Given the description of an element on the screen output the (x, y) to click on. 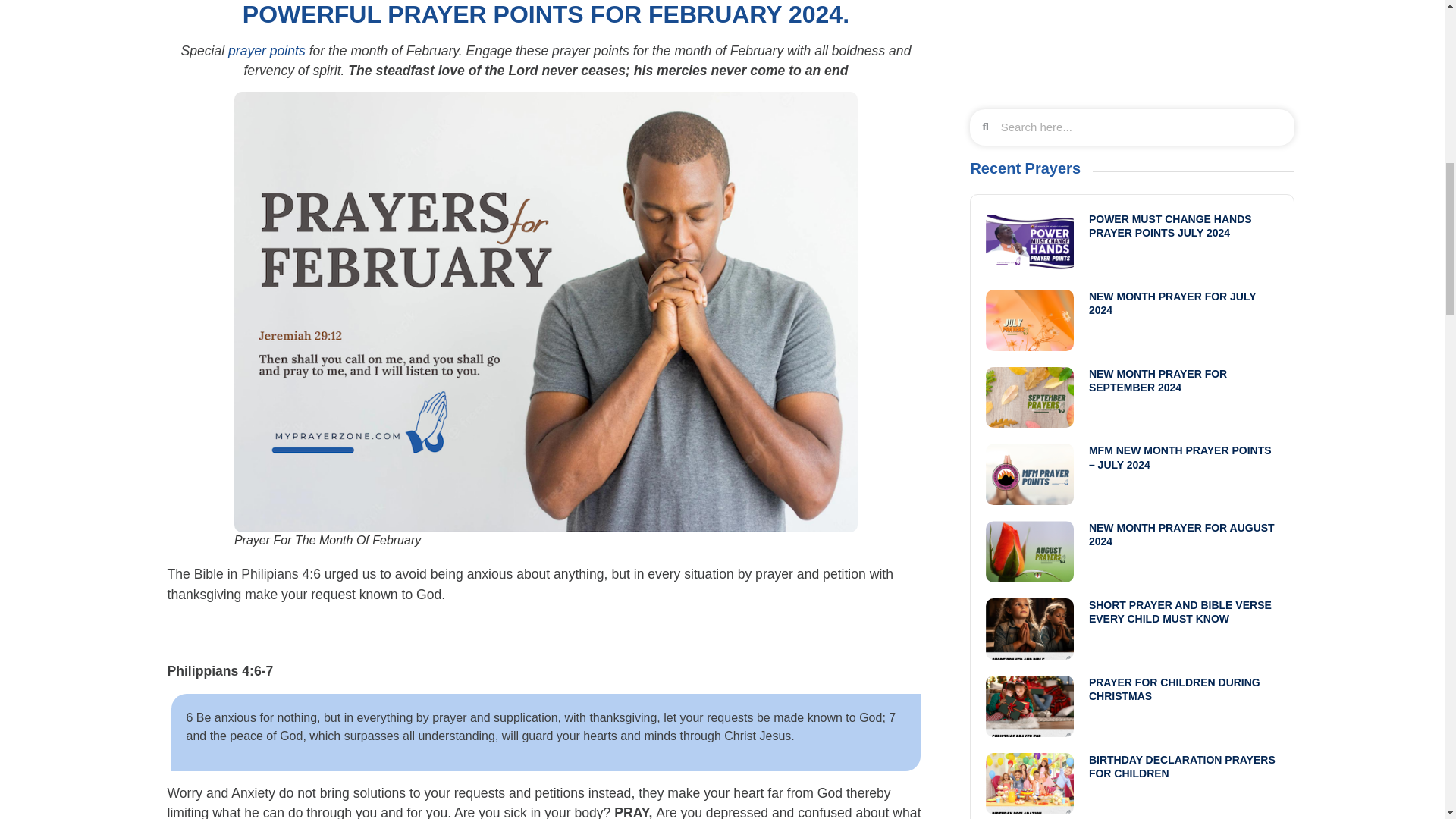
Advertisement (1131, 47)
